Given the description of an element on the screen output the (x, y) to click on. 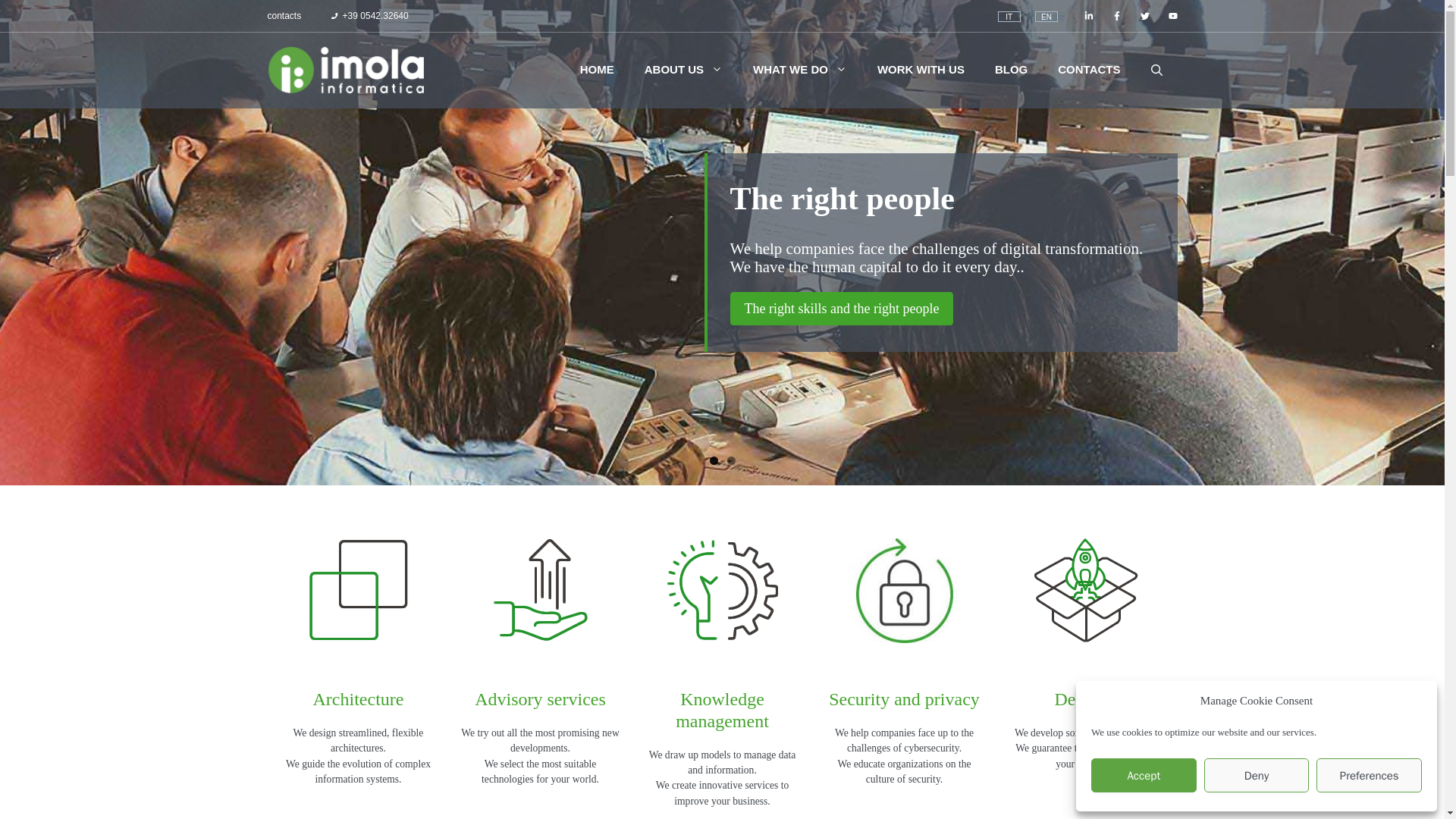
WHAT WE DO (799, 69)
WORK WITH US (920, 69)
BLOG (1010, 69)
CONTACTS (1088, 69)
Imola Informatica (345, 70)
Preferences (1369, 775)
contacts (283, 15)
HOME (596, 69)
IT (1008, 16)
ABOUT US (683, 69)
